Given the description of an element on the screen output the (x, y) to click on. 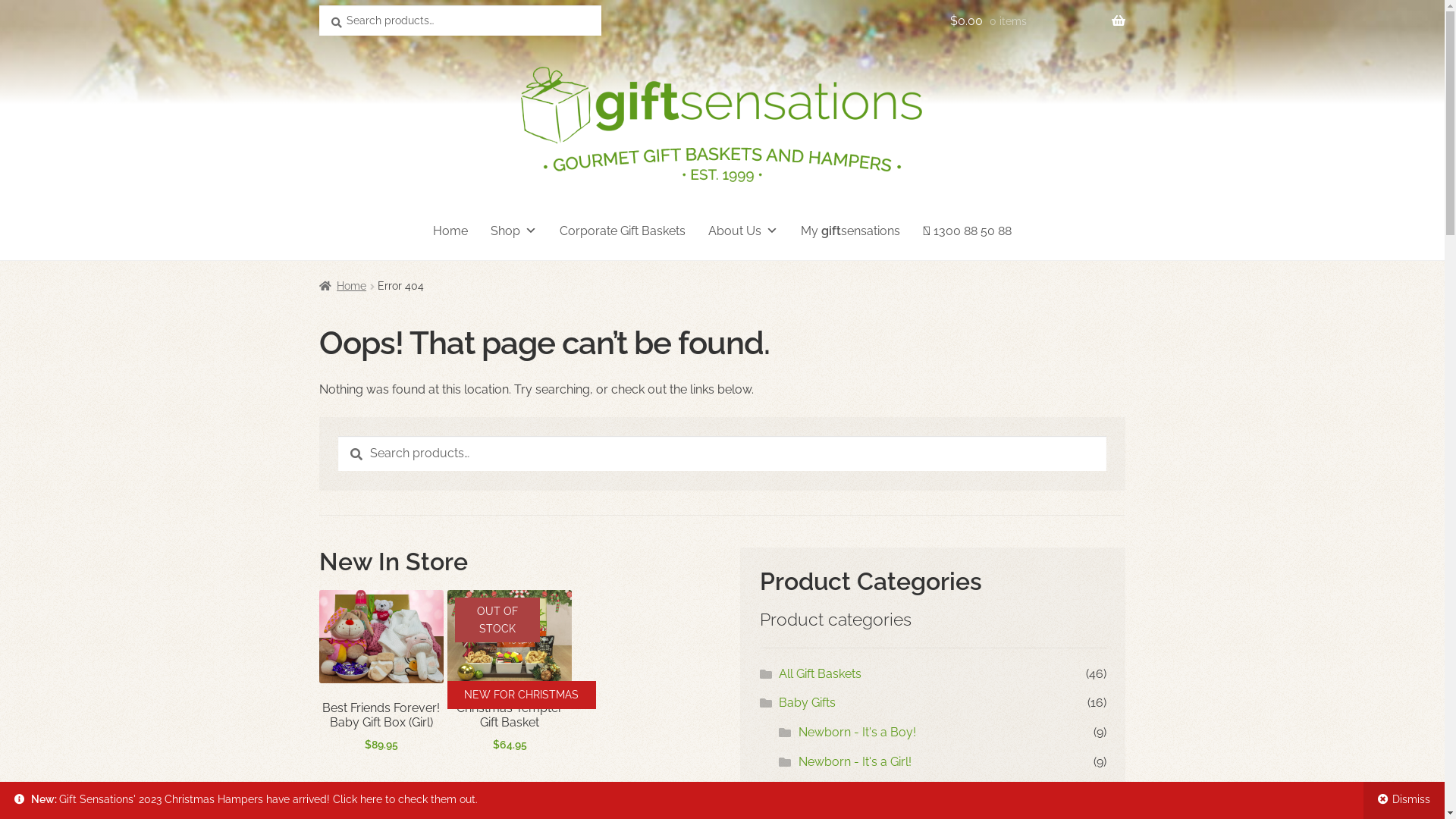
All Gift Baskets Element type: text (819, 673)
Corporate Gift Baskets Element type: text (622, 230)
Home Element type: text (343, 285)
About Us Element type: text (742, 230)
Search Element type: text (337, 435)
Baby Gifts Element type: text (806, 702)
Newborn - It's a Surprise! Element type: text (869, 790)
Home Element type: text (450, 230)
Shop Element type: text (513, 230)
Newborn - It's a Boy! Element type: text (857, 731)
My giftsensations Element type: text (850, 230)
Best Friends Forever! Baby Gift Box (Girl)
$89.95 Element type: text (381, 671)
Newborn - It's a Girl! Element type: text (854, 761)
Search Element type: text (318, 4)
Skip to navigation Element type: text (318, 31)
Christmas Tempter Gift Basket
$64.95 Element type: text (509, 671)
